Given the description of an element on the screen output the (x, y) to click on. 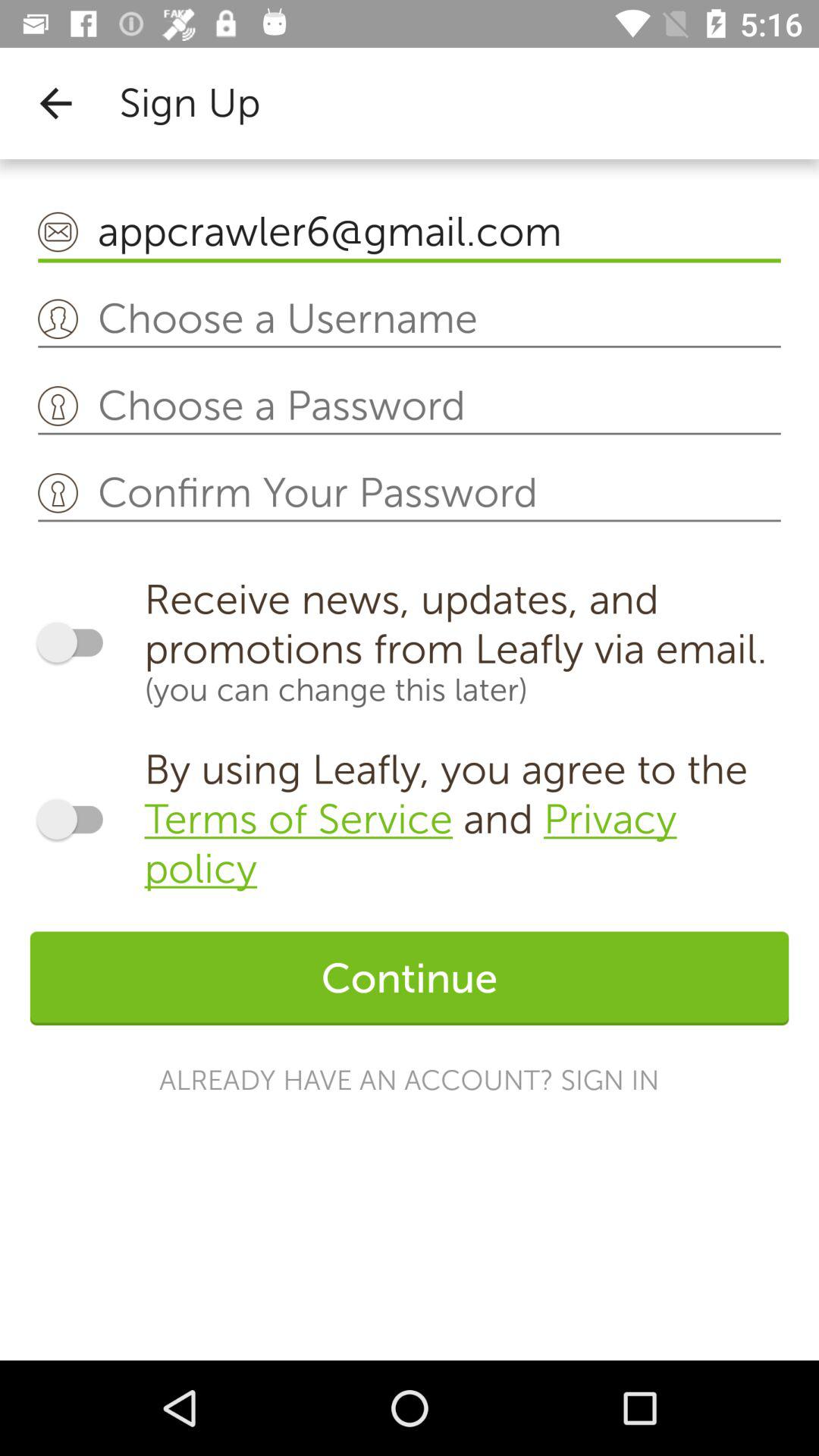
toggle notification on (77, 642)
